Given the description of an element on the screen output the (x, y) to click on. 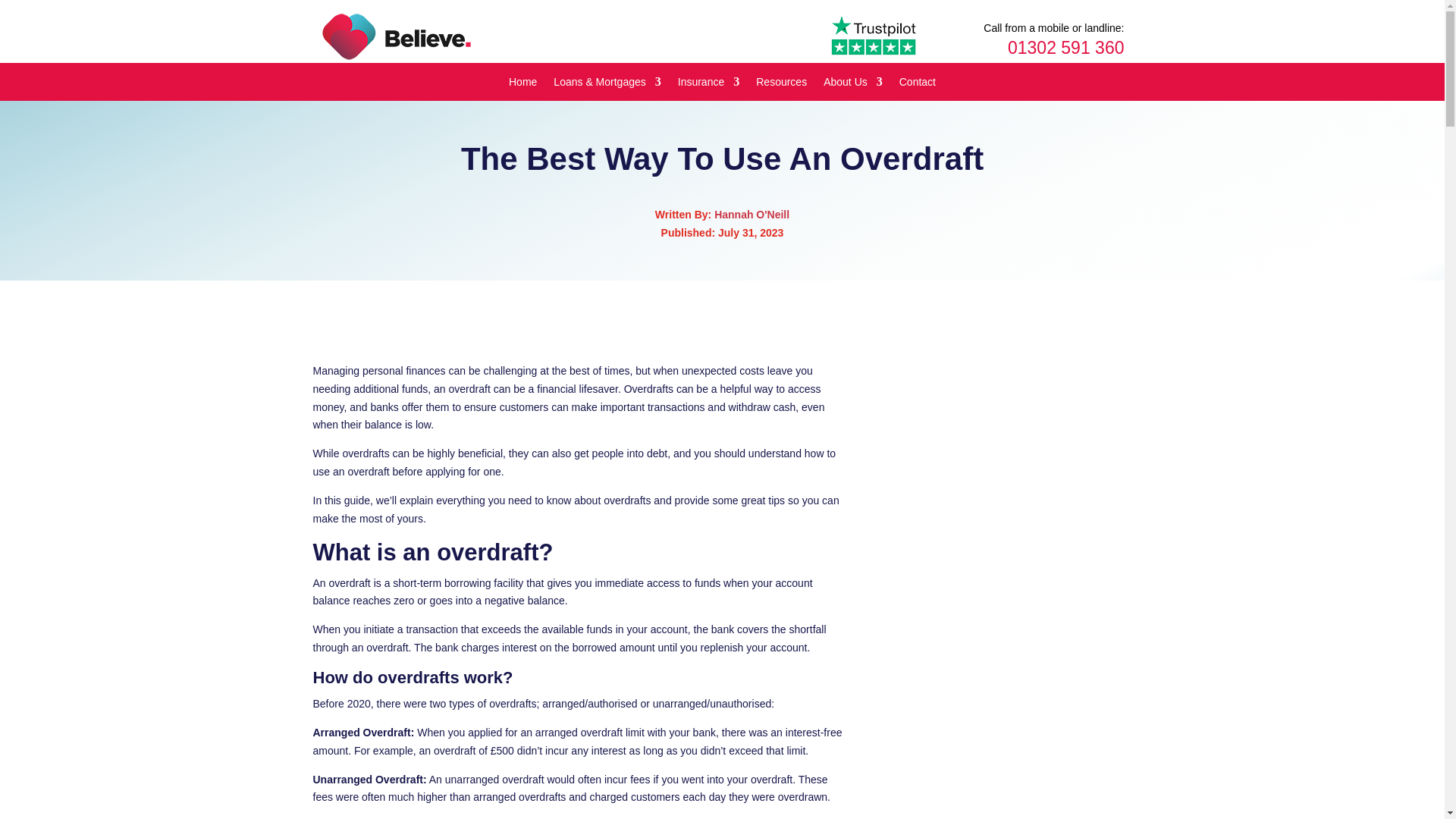
Home (522, 84)
logo-lp1 (395, 36)
